Given the description of an element on the screen output the (x, y) to click on. 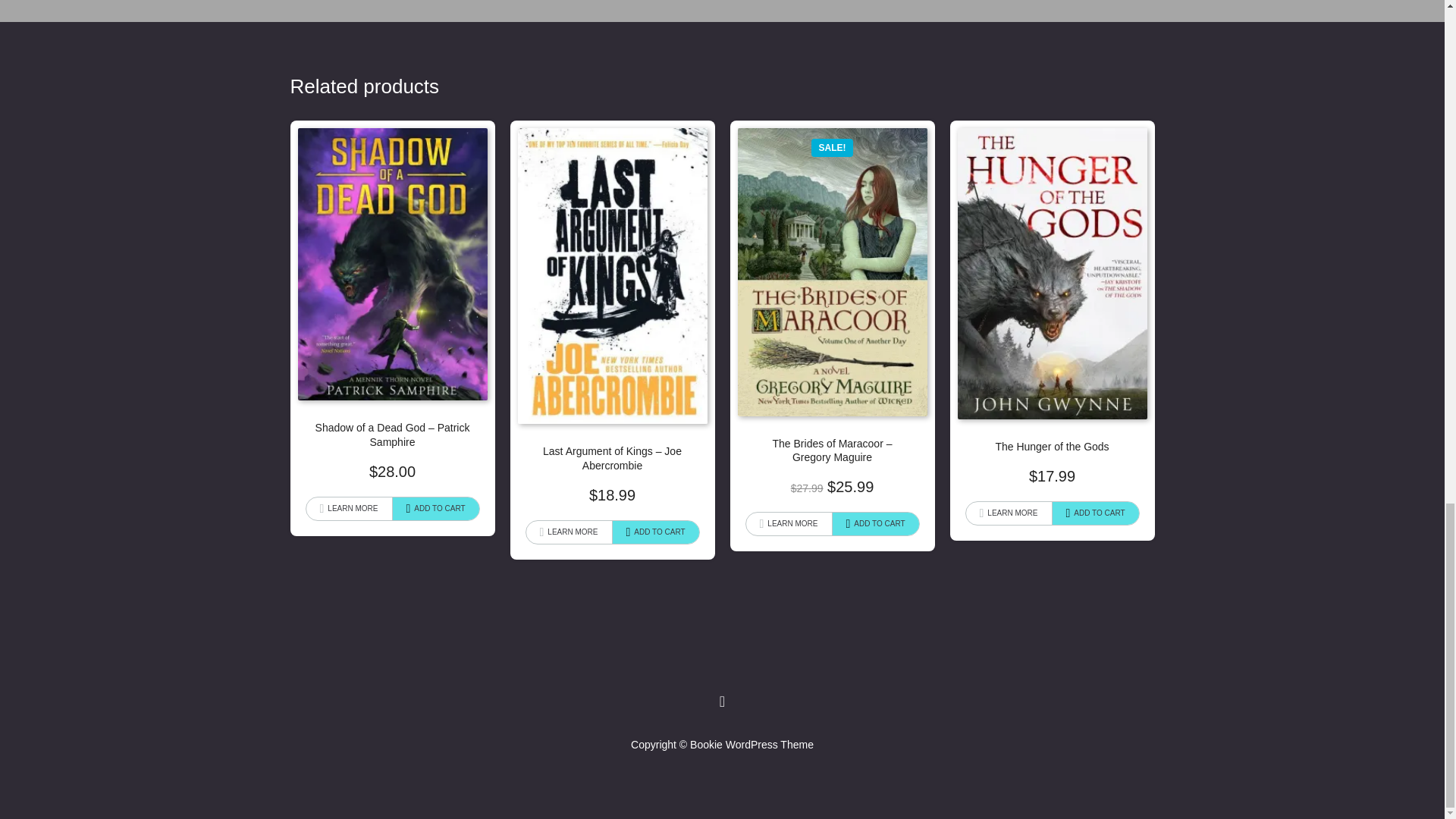
LEARN MORE (349, 508)
ADD TO CART (875, 523)
ADD TO CART (436, 508)
LEARN MORE (788, 523)
ADD TO CART (655, 531)
LEARN MORE (1009, 513)
ADD TO CART (1095, 513)
LEARN MORE (568, 531)
